Given the description of an element on the screen output the (x, y) to click on. 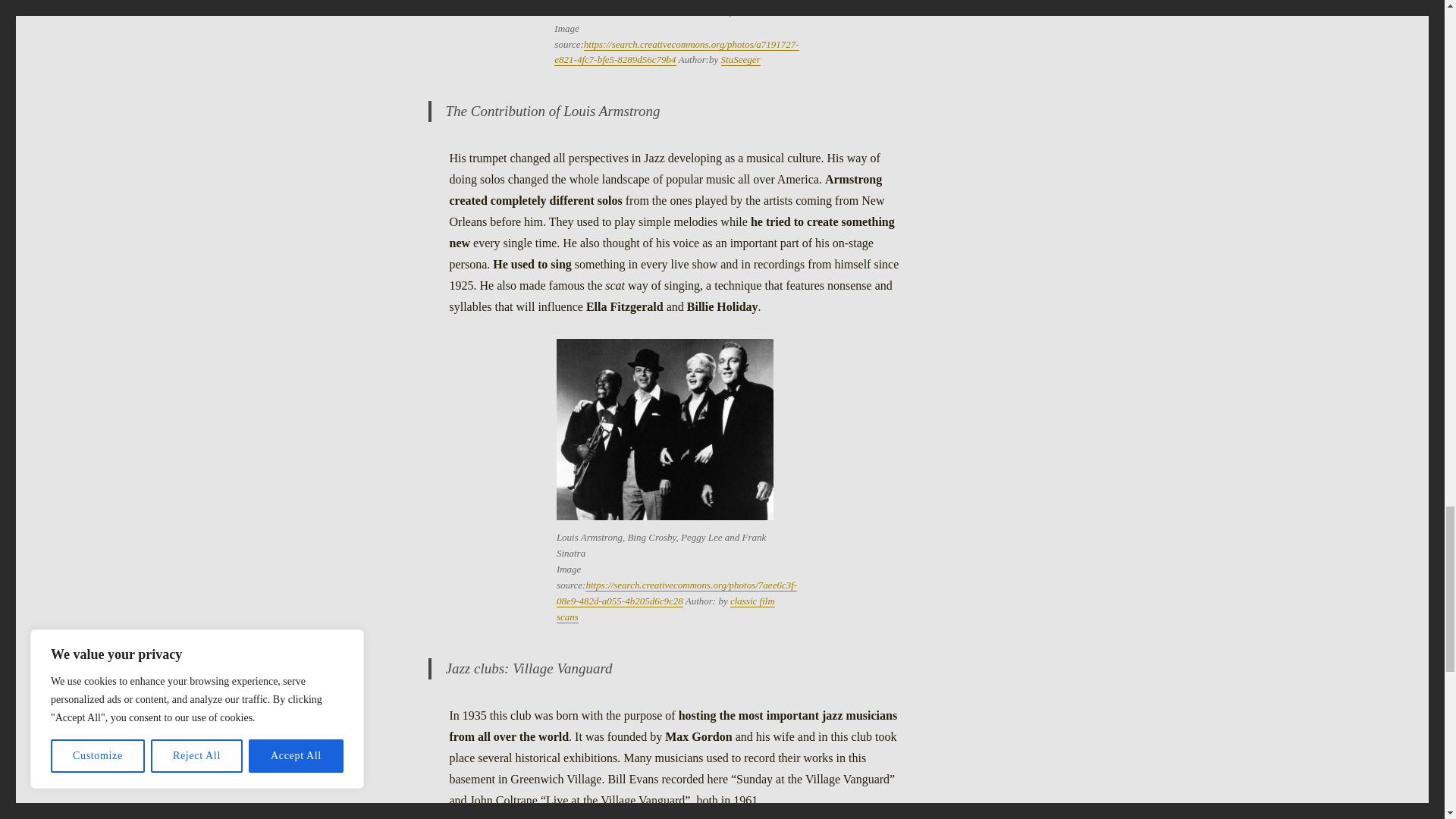
StuSeeger (740, 59)
